Given the description of an element on the screen output the (x, y) to click on. 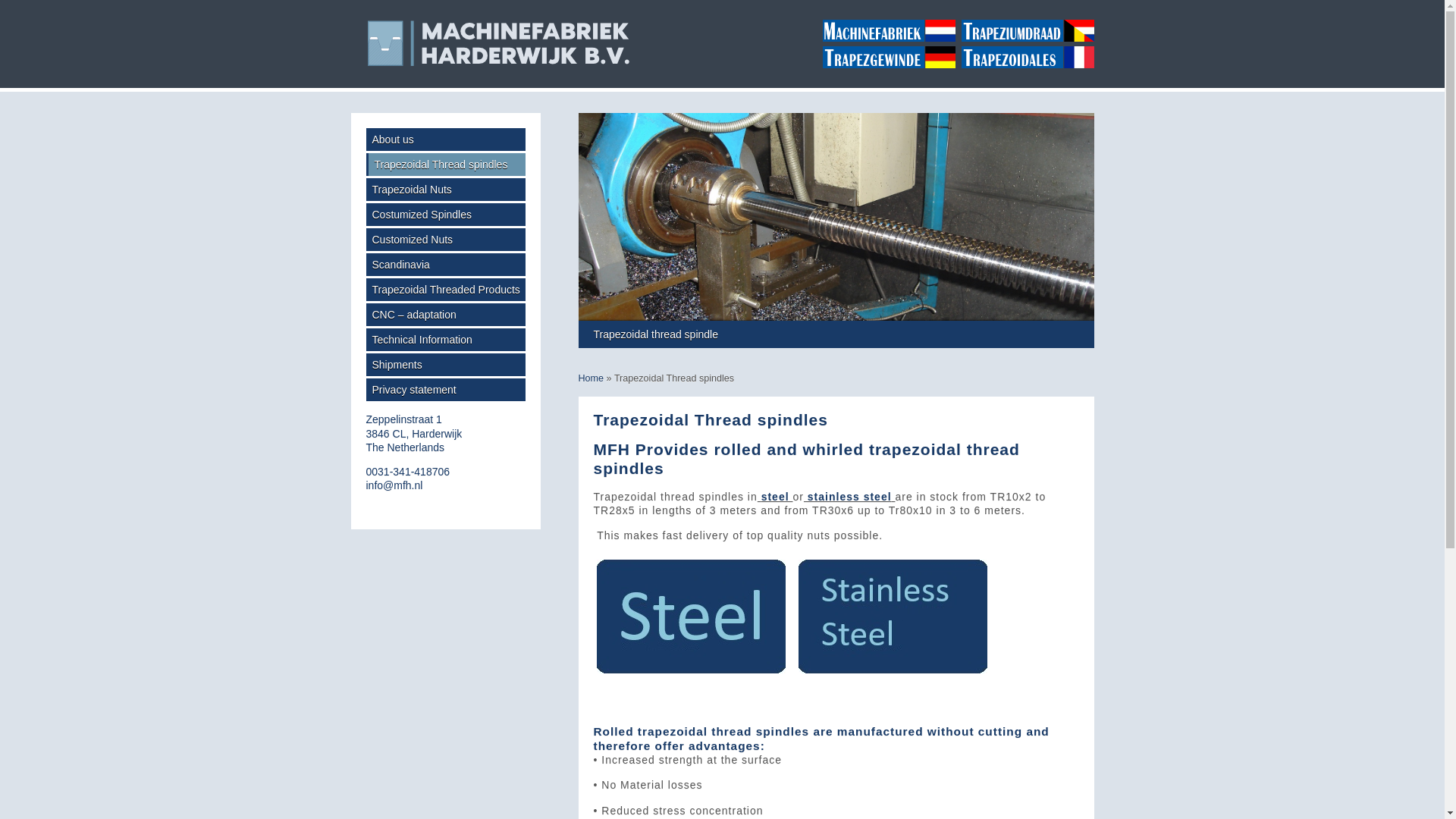
Scandinavia (444, 264)
About us (444, 138)
0031-341-418706 (407, 471)
Trapezgewinde - Machinefabriek Harderwijk B.V. (885, 57)
Shipments (444, 363)
Technical Information (413, 432)
Costumized Spindles (444, 339)
Trapezoidales - Machinefabriek Harderwijk B.V. (444, 214)
Trapezoidal Nuts (1024, 57)
Trapeziumdraad - Machinefabriek Harderwijk B.V. (444, 189)
Trapezoidal Thread spindles (1024, 30)
Trapezoidal Threaded Products (444, 164)
Privacy statement (444, 289)
Machinefabriek Harderwijk B.V. (444, 389)
